Given the description of an element on the screen output the (x, y) to click on. 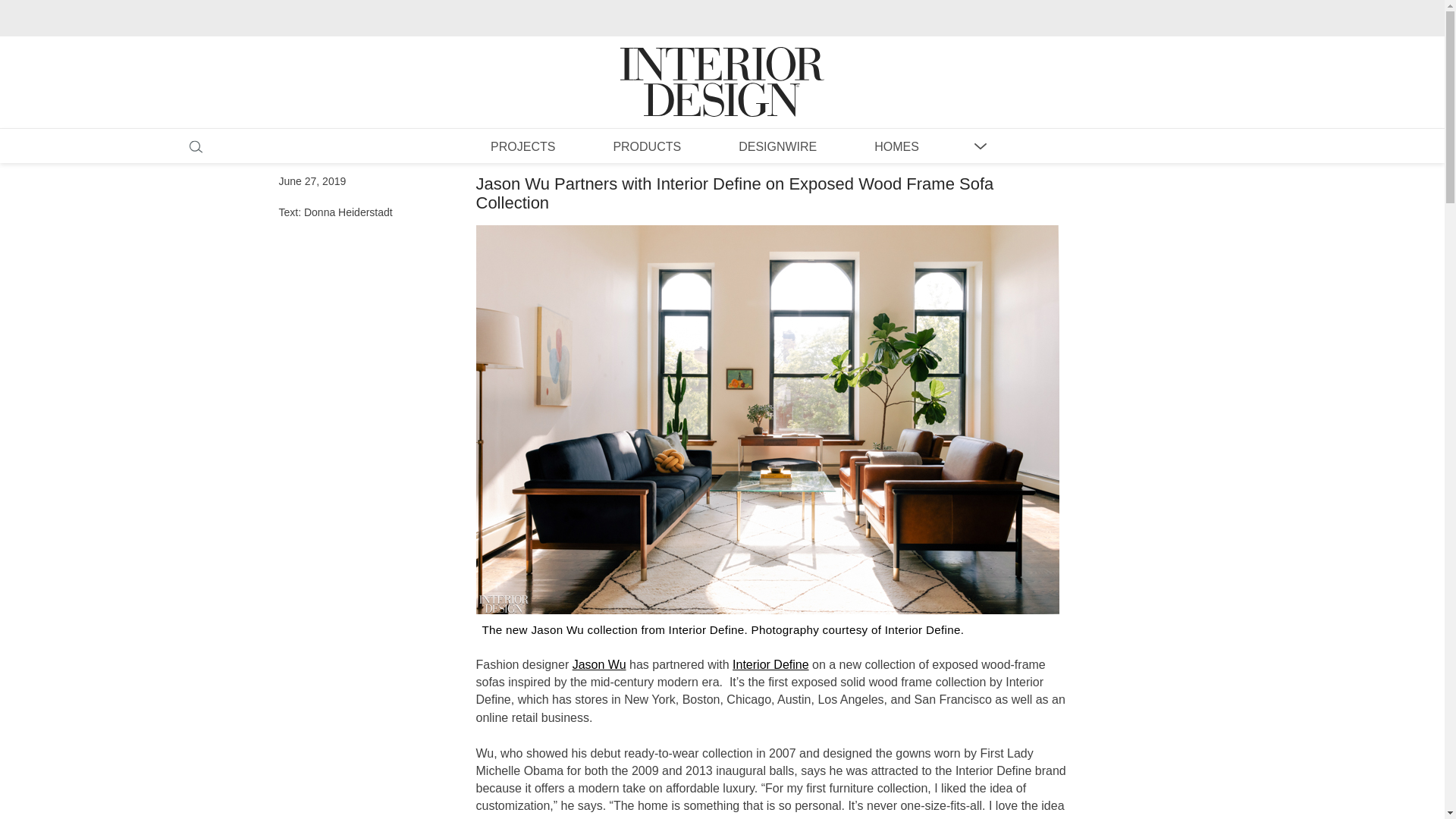
PRODUCTS (646, 145)
DESIGNWIRE (777, 145)
PROJECTS (522, 145)
HOMES (896, 145)
Interior Define (770, 664)
Interior Design (721, 67)
Jason Wu (599, 664)
